Given the description of an element on the screen output the (x, y) to click on. 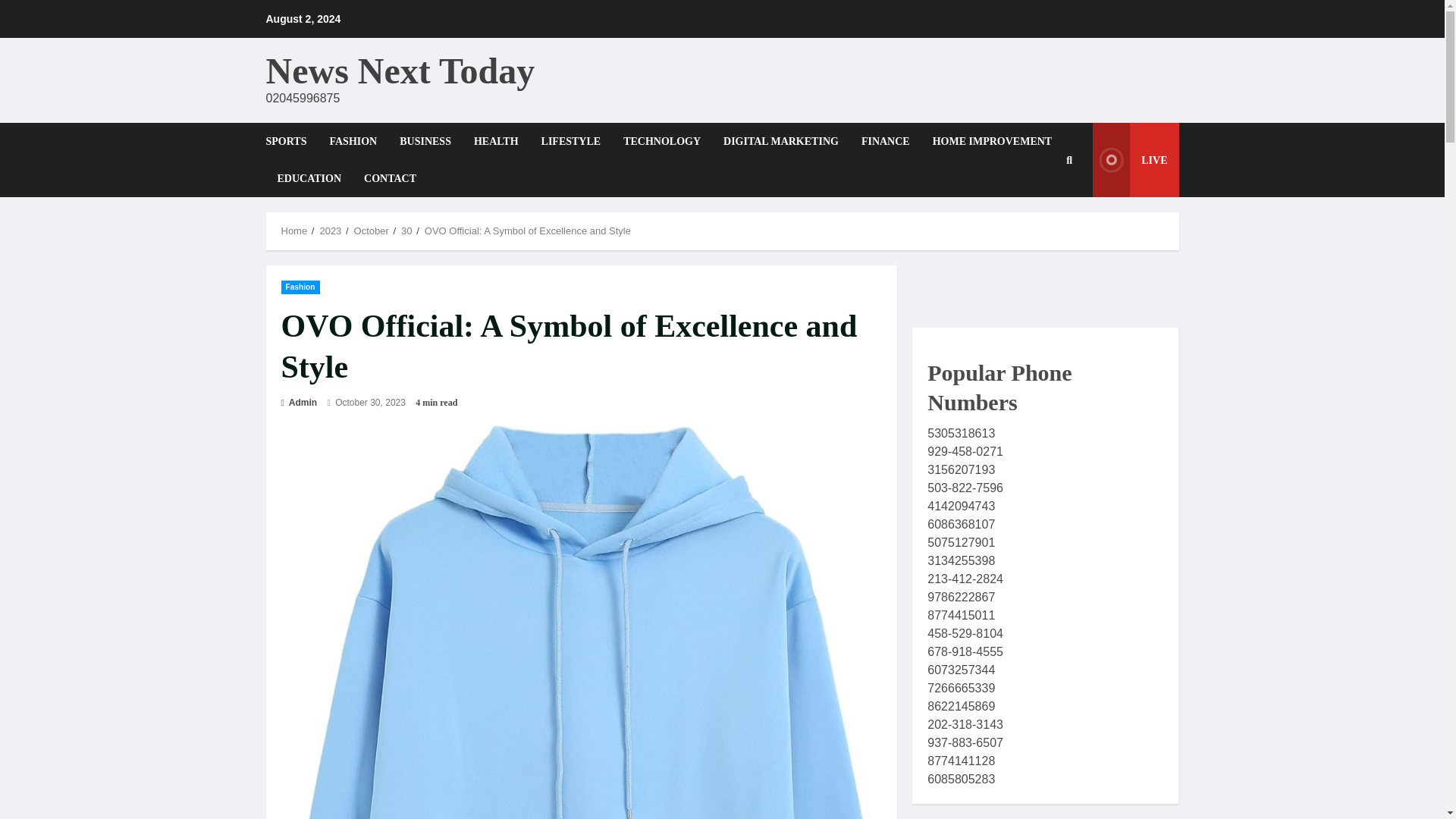
Search (1045, 237)
October (370, 230)
Home (294, 230)
BUSINESS (425, 140)
LIVE (1135, 159)
CONTACT (384, 178)
OVO Official: A Symbol of Excellence and Style (527, 230)
FASHION (352, 140)
2023 (329, 230)
HOME IMPROVEMENT (992, 140)
SPORTS (290, 140)
DIGITAL MARKETING (780, 140)
Fashion (299, 287)
LIFESTYLE (570, 140)
EDUCATION (308, 178)
